Given the description of an element on the screen output the (x, y) to click on. 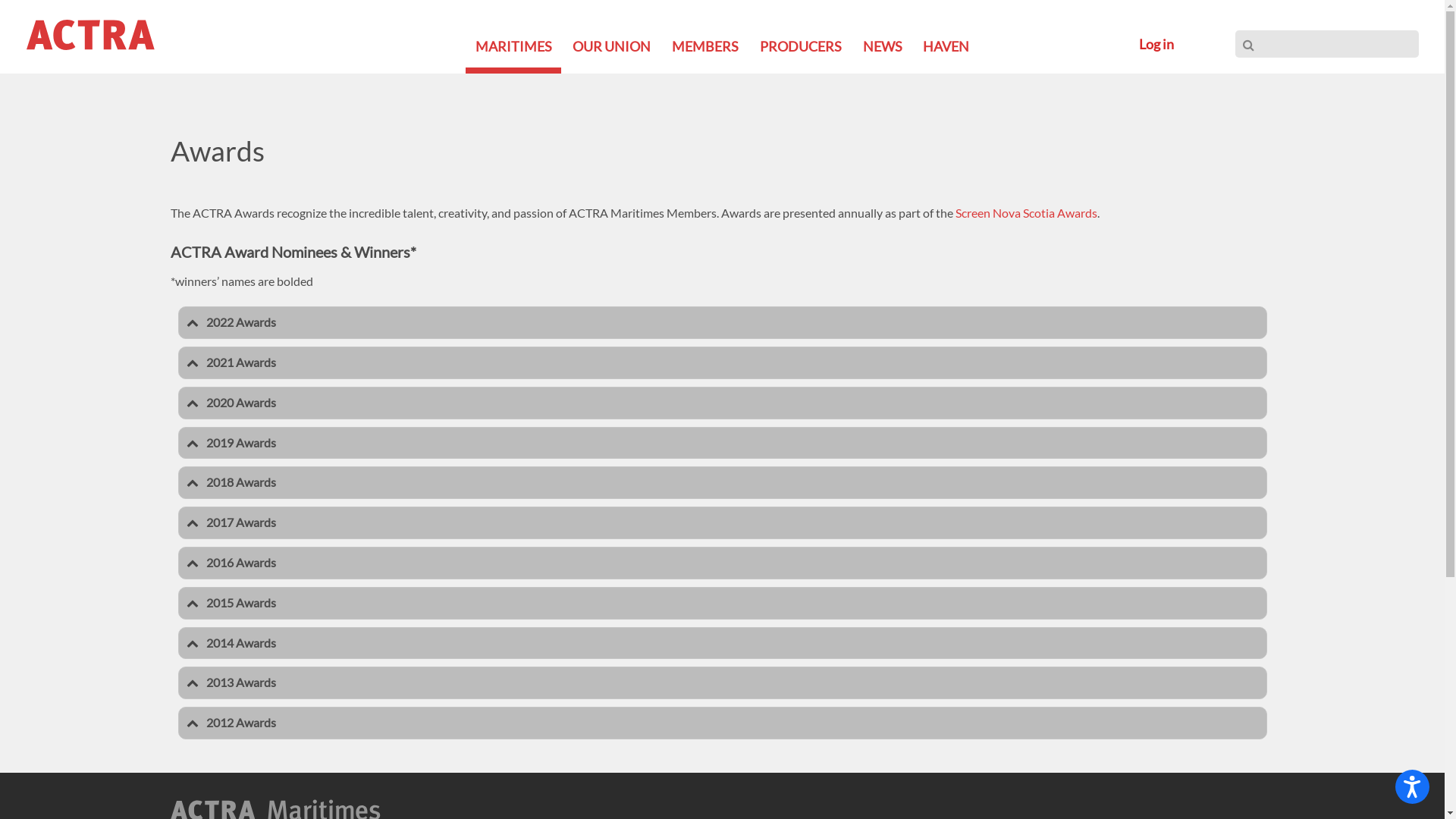
Log in Element type: text (1156, 43)
Screen Nova Scotia Awards Element type: text (1026, 212)
HAVEN Element type: text (946, 46)
